Given the description of an element on the screen output the (x, y) to click on. 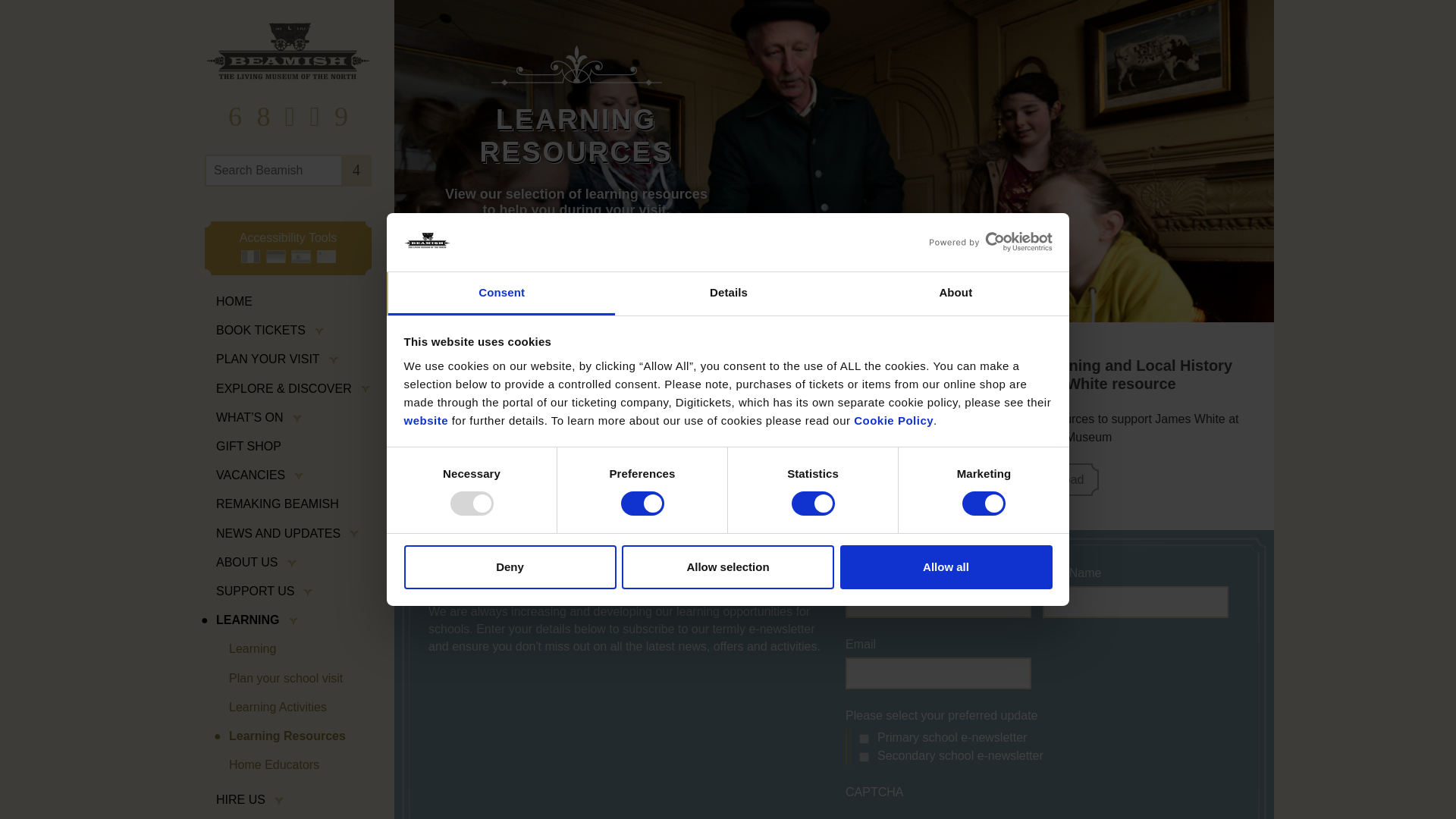
website (425, 420)
Cookie Policy (893, 420)
Primary school e-newsletter (864, 738)
Secondary school e-newsletter (864, 757)
About (955, 293)
Details (727, 293)
4 (355, 170)
Consent (501, 293)
4 (355, 170)
